Given the description of an element on the screen output the (x, y) to click on. 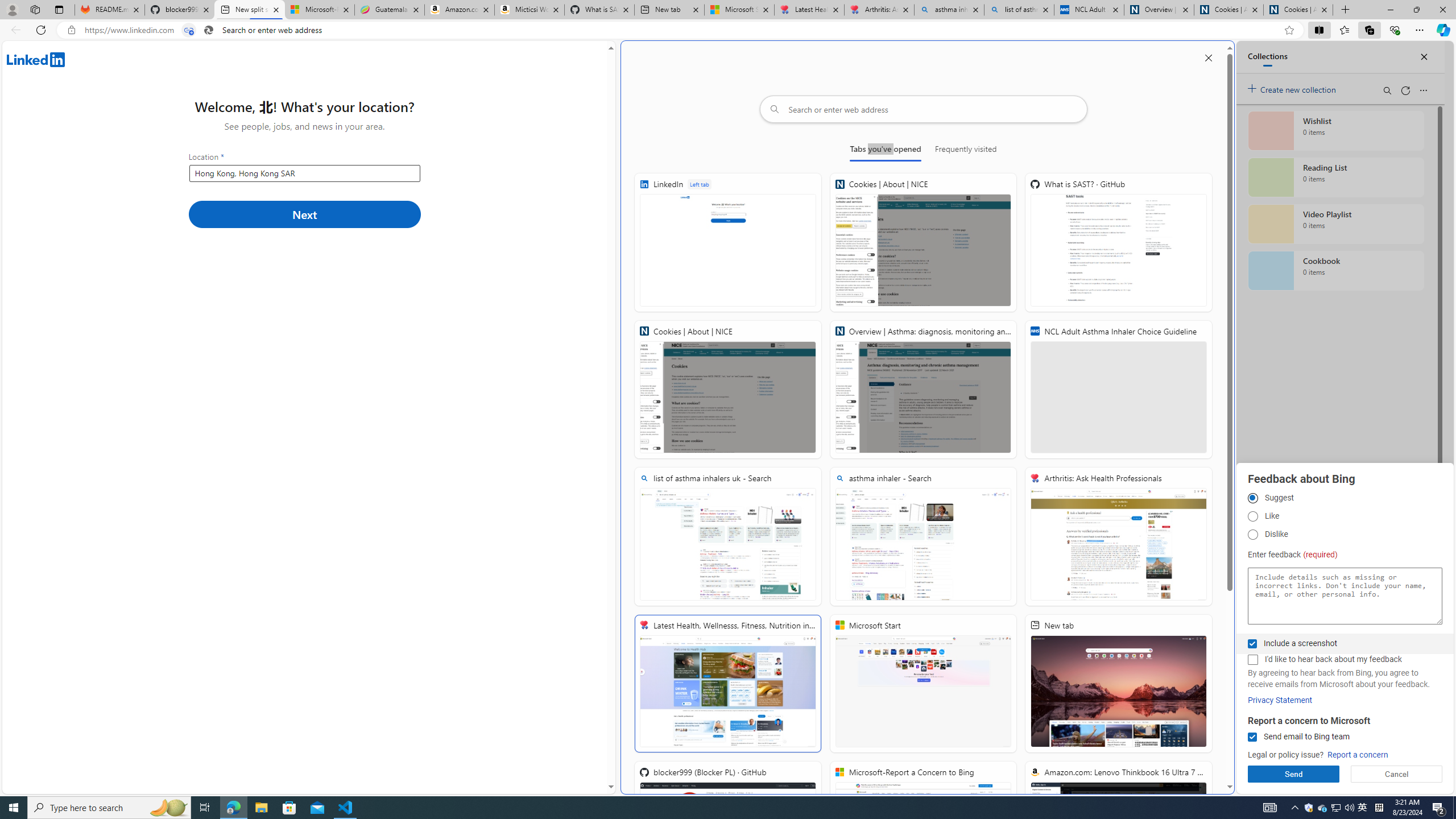
list of asthma inhalers uk - Search (1018, 9)
Send email to Bing team (1251, 737)
LinkedIn (727, 242)
Arthritis: Ask Health Professionals (1118, 536)
Like (1252, 516)
Frequently visited (965, 151)
